Given the description of an element on the screen output the (x, y) to click on. 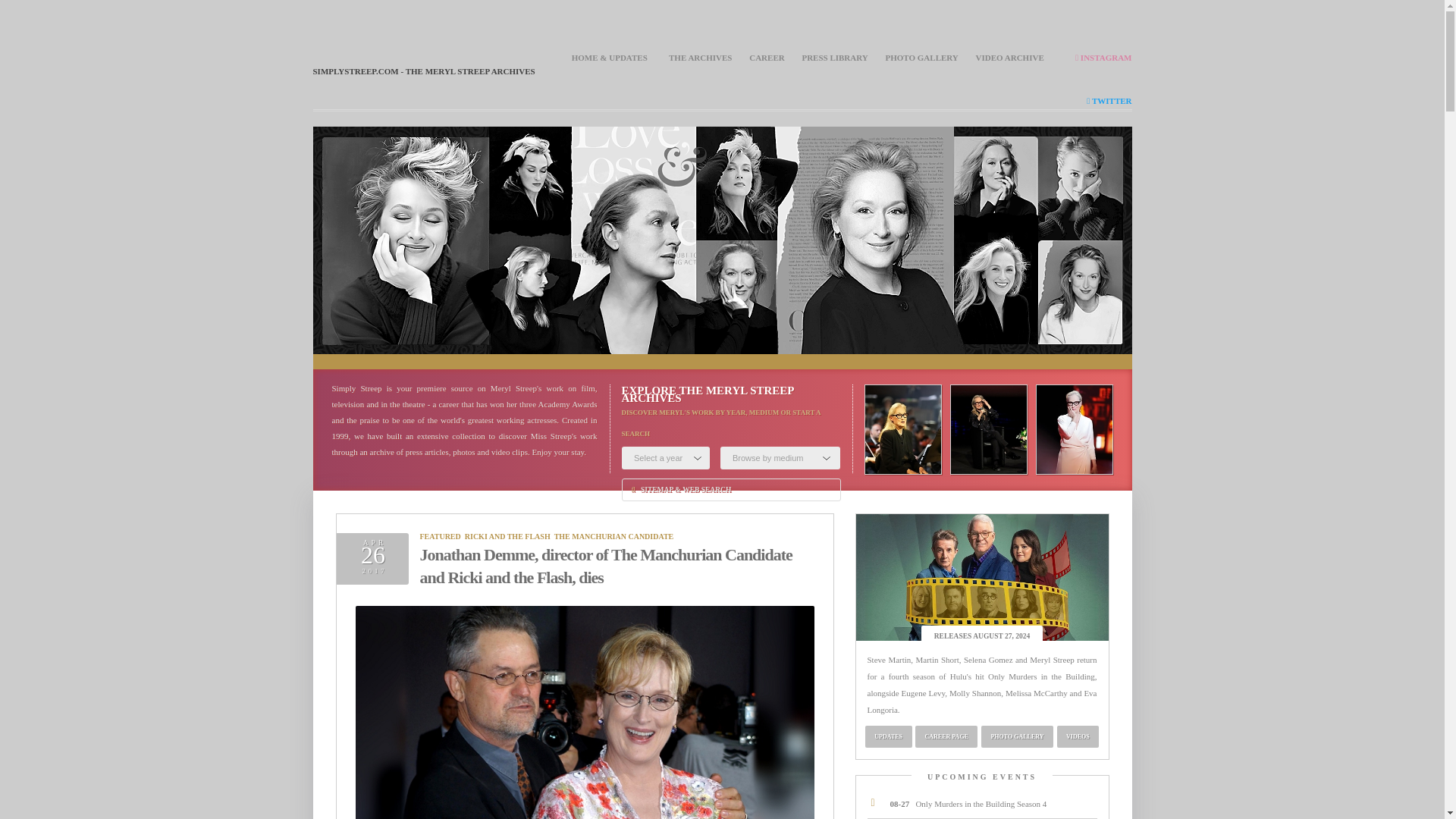
FEATURED (440, 536)
INSTAGRAM (1103, 57)
THE ARCHIVES (700, 57)
PRESS LIBRARY (834, 57)
RICKI AND THE FLASH (507, 536)
PHOTO GALLERY (921, 57)
CAREER (766, 57)
THE MANCHURIAN CANDIDATE (614, 536)
VIDEO ARCHIVE (1009, 57)
